Given the description of an element on the screen output the (x, y) to click on. 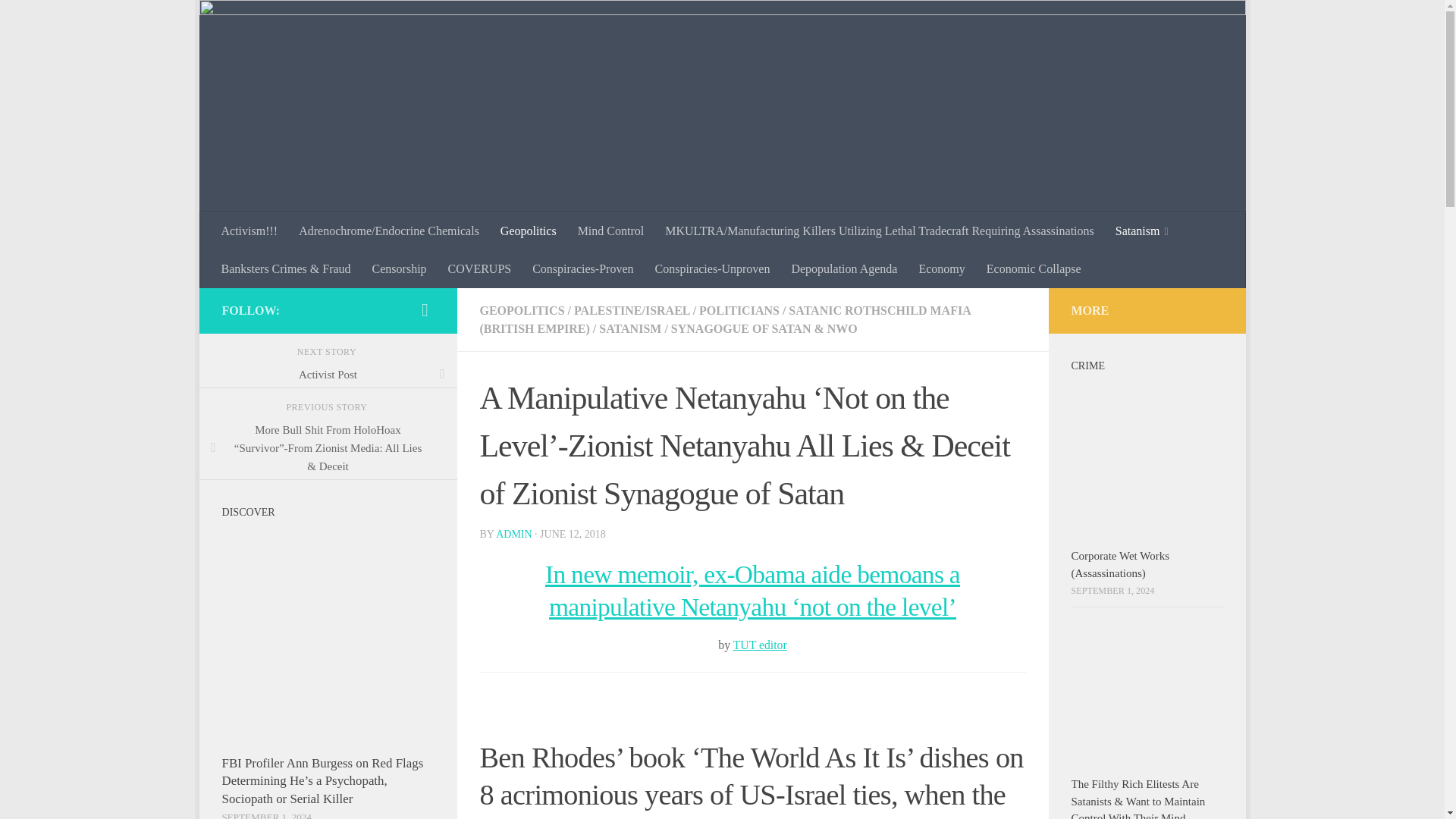
Get the book on Amazon (423, 310)
Conspiracies-Unproven (711, 269)
COVERUPS (480, 269)
Satanism (1142, 231)
Geopolitics (528, 231)
Censorship (399, 269)
Posts by Admin (513, 533)
Conspiracies-Proven (582, 269)
Skip to content (258, 20)
Activism!!! (249, 231)
